Given the description of an element on the screen output the (x, y) to click on. 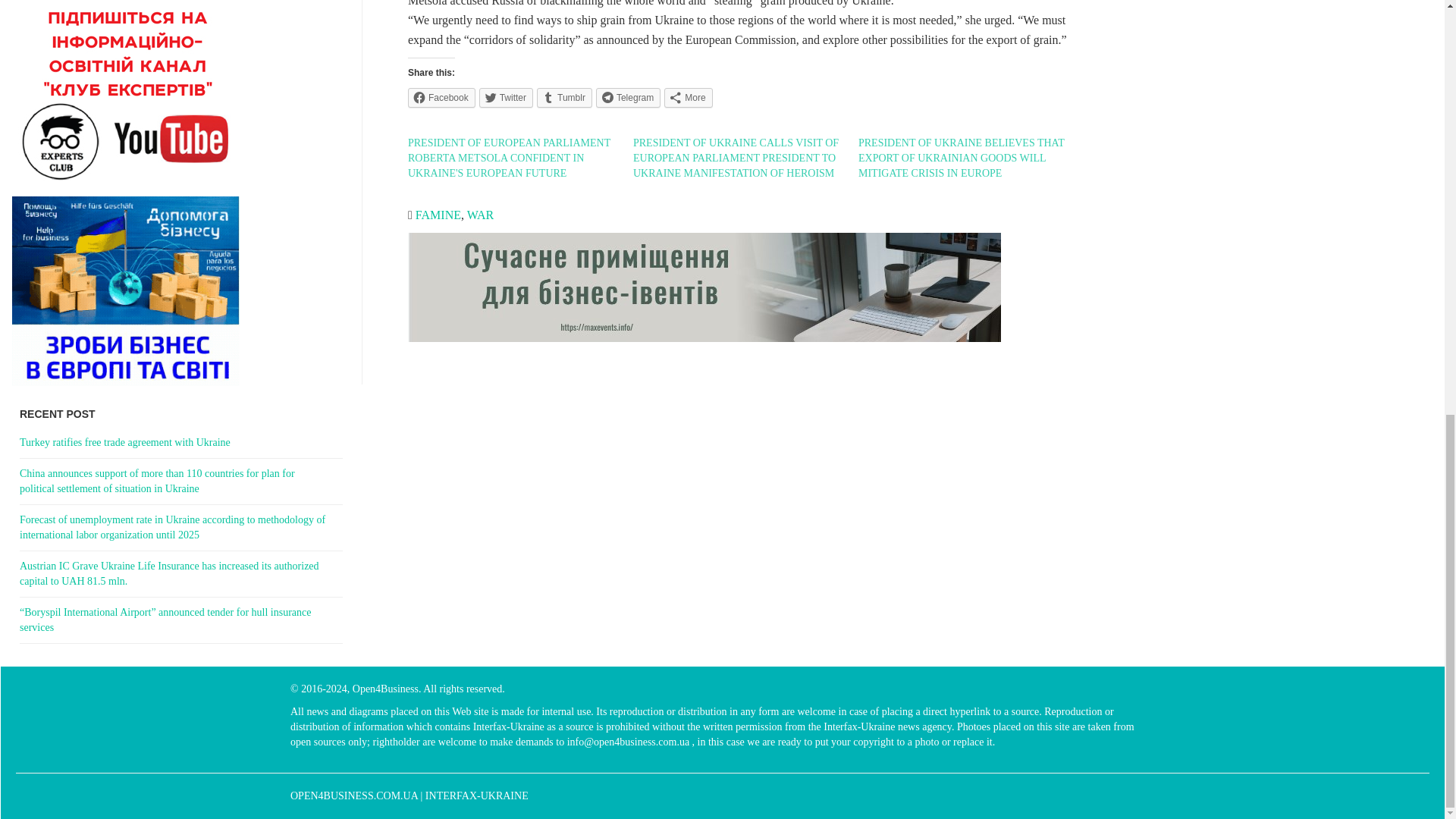
Telegram (628, 97)
Twitter (505, 97)
Facebook (441, 97)
WAR (481, 214)
More (687, 97)
Tumblr (564, 97)
FAMINE (437, 214)
